Given the description of an element on the screen output the (x, y) to click on. 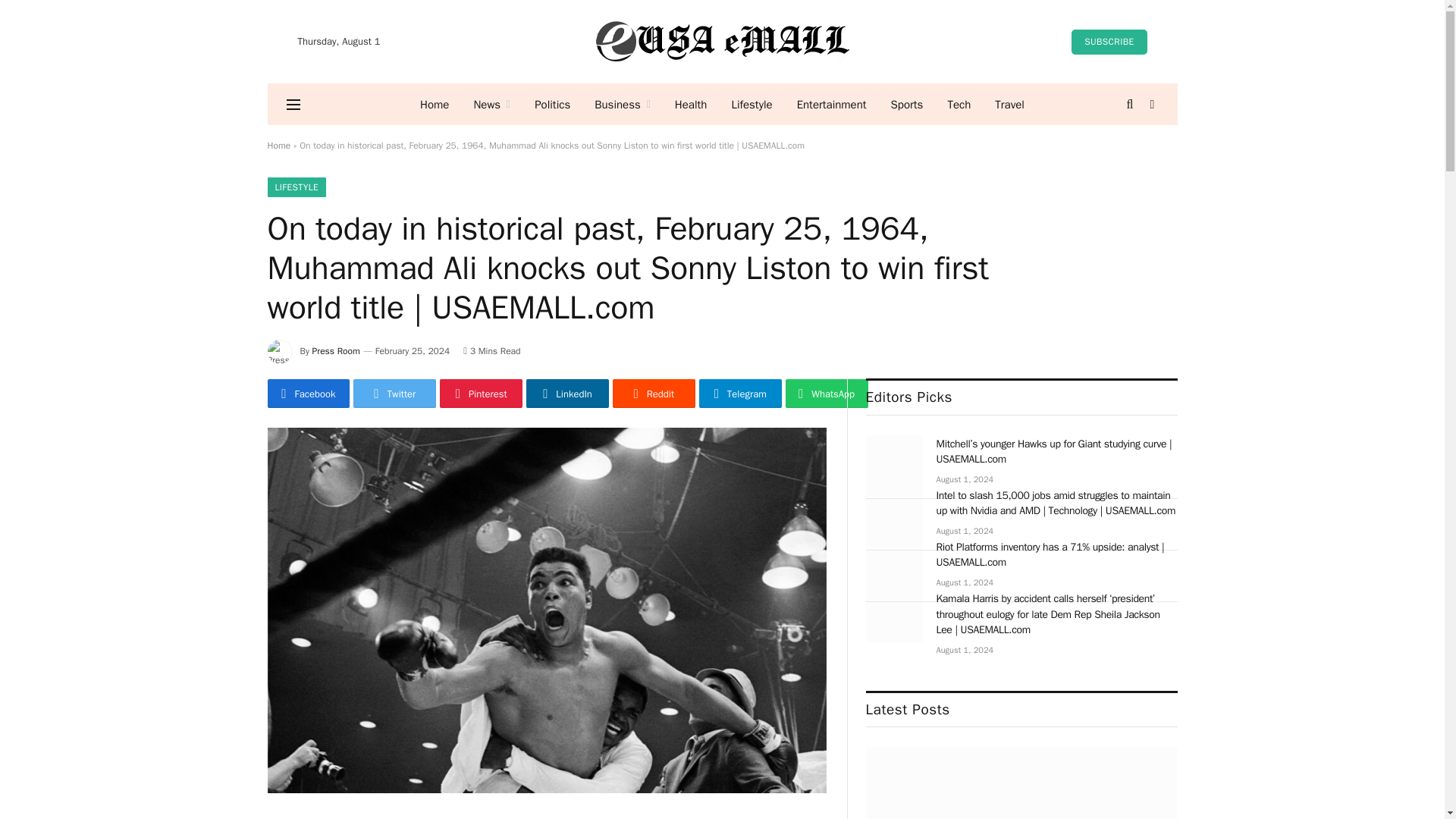
USAeMALL (721, 41)
Home (434, 104)
SUBSCRIBE (1109, 41)
News (491, 104)
